Given the description of an element on the screen output the (x, y) to click on. 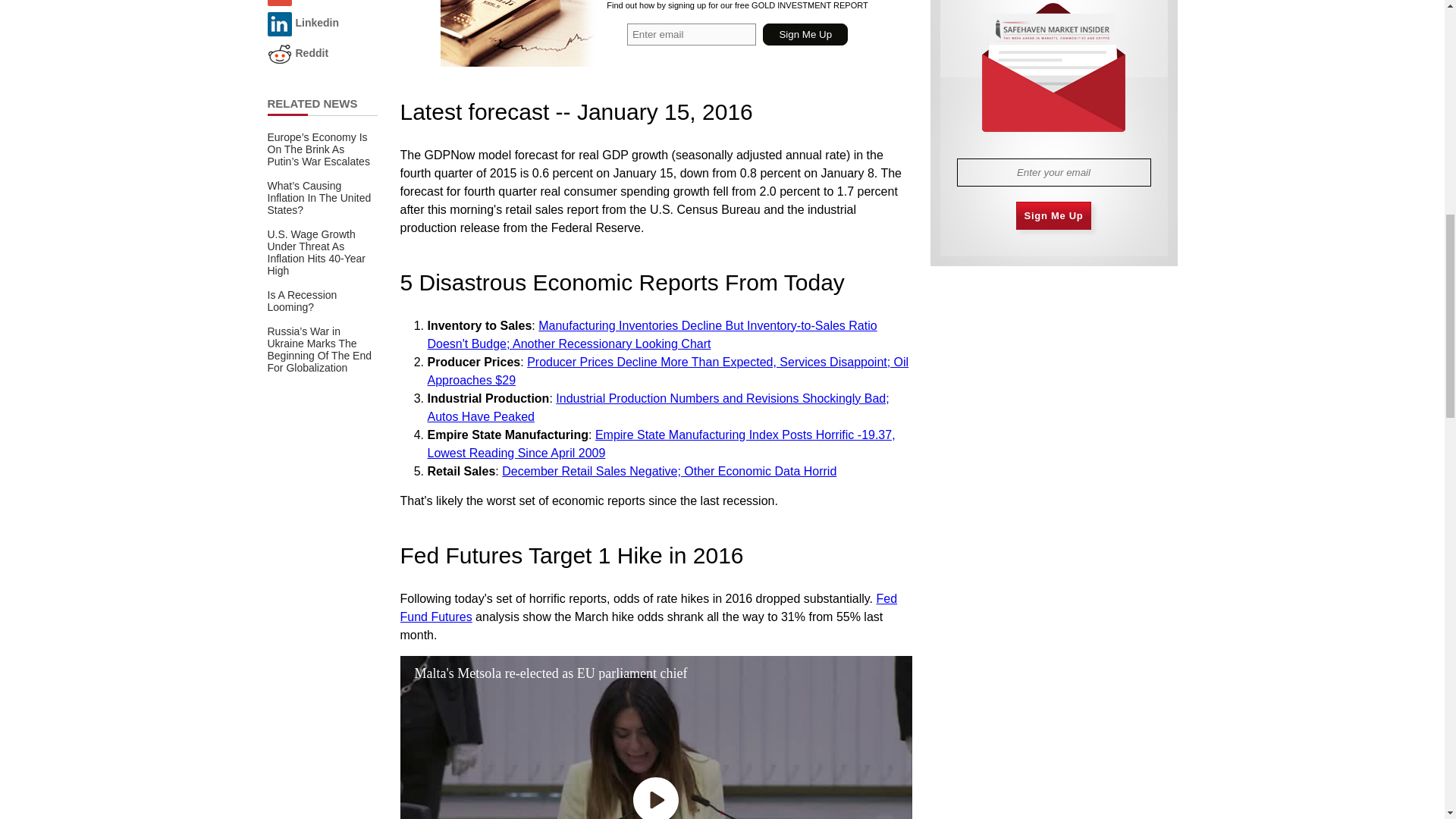
Sign Me Up (804, 34)
